Given the description of an element on the screen output the (x, y) to click on. 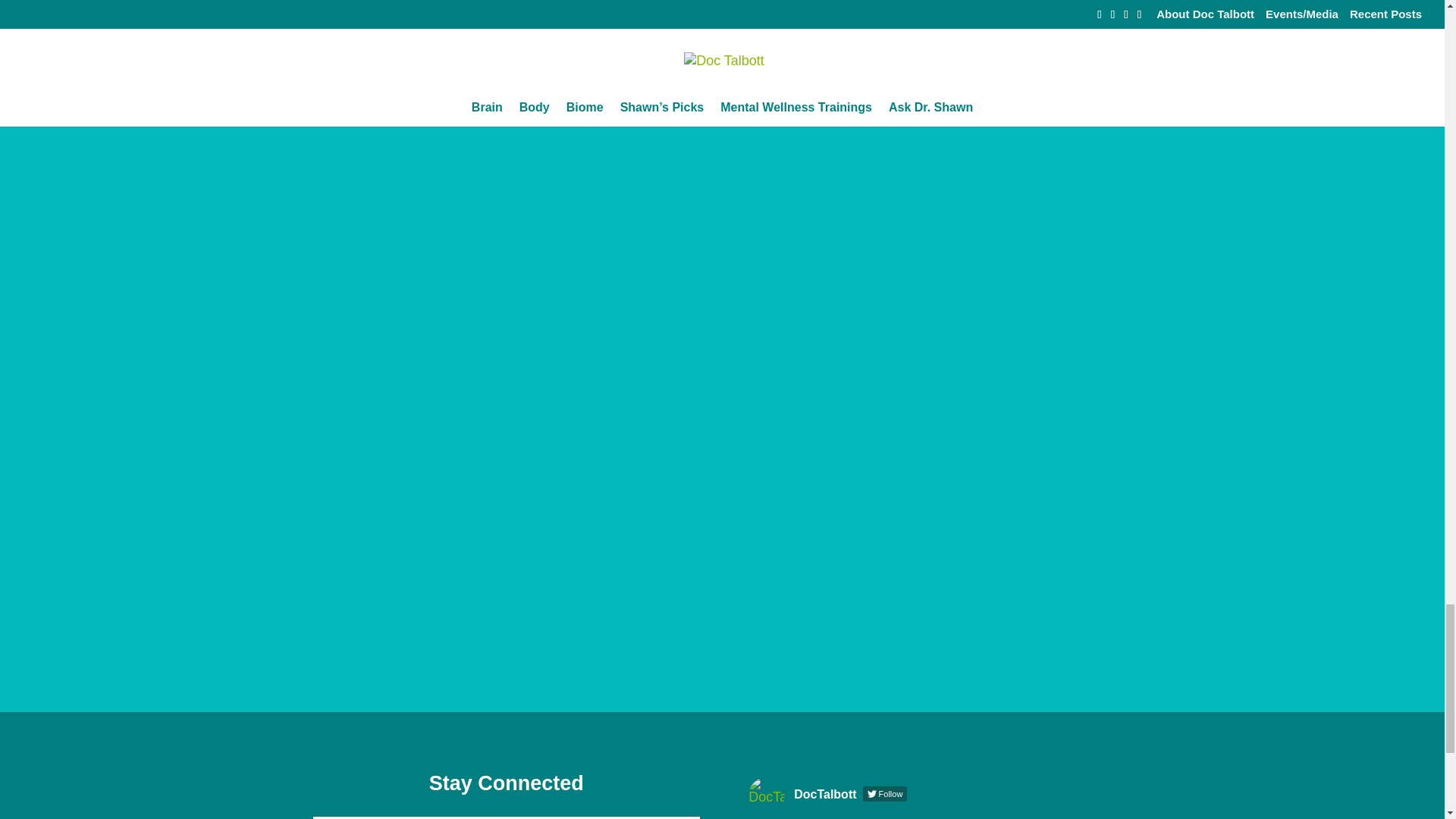
KUSA TV Denver - Dr. Shawn Talbott talks E.Coli (505, 85)
